Given the description of an element on the screen output the (x, y) to click on. 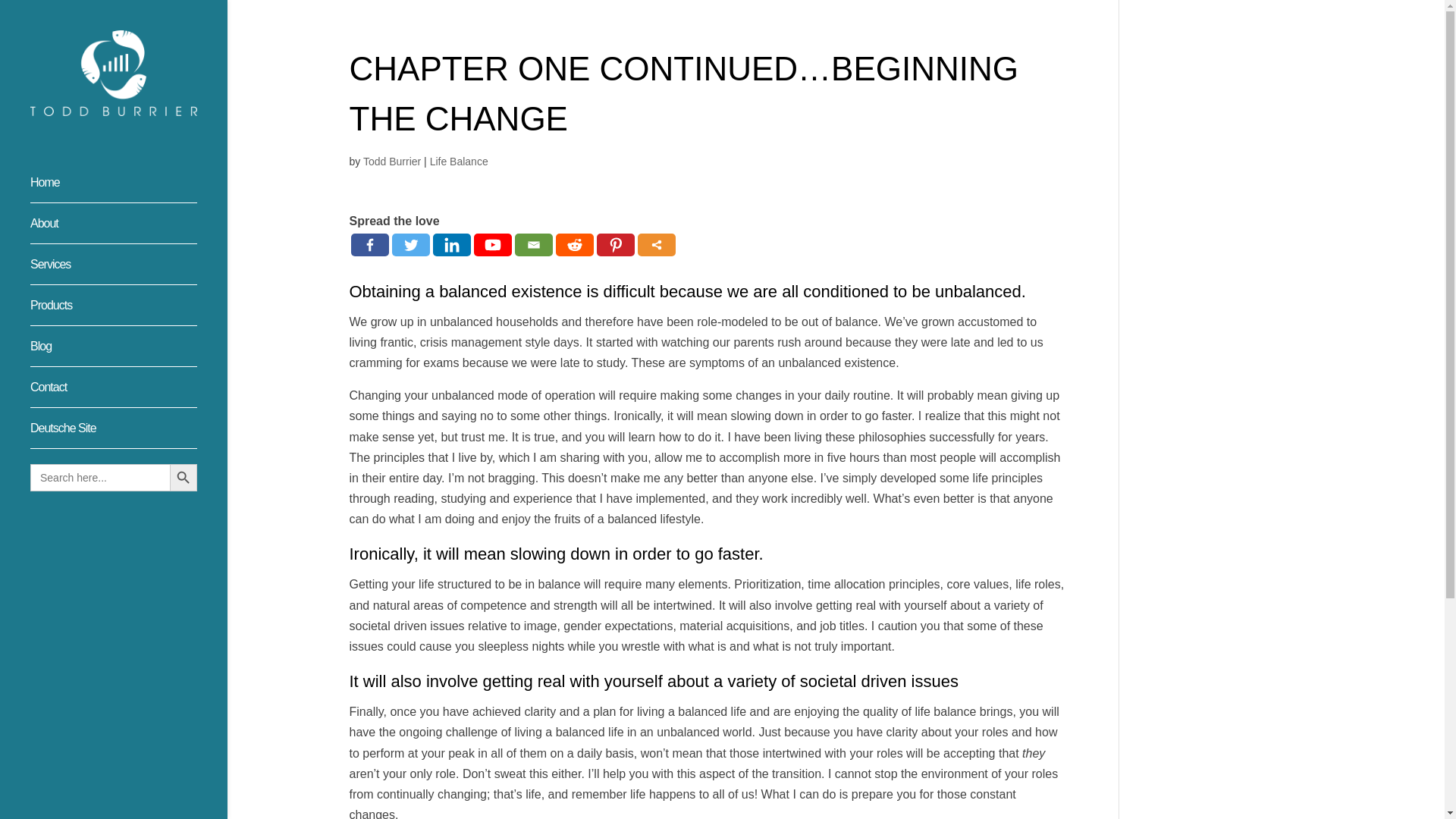
Contact (128, 394)
Pinterest (614, 244)
Youtube (492, 244)
Services (128, 271)
Todd Burrier (391, 161)
Blog (128, 353)
Linkedin (451, 244)
Posts by Todd Burrier (391, 161)
Products (128, 312)
Deutsche Site (128, 435)
